Given the description of an element on the screen output the (x, y) to click on. 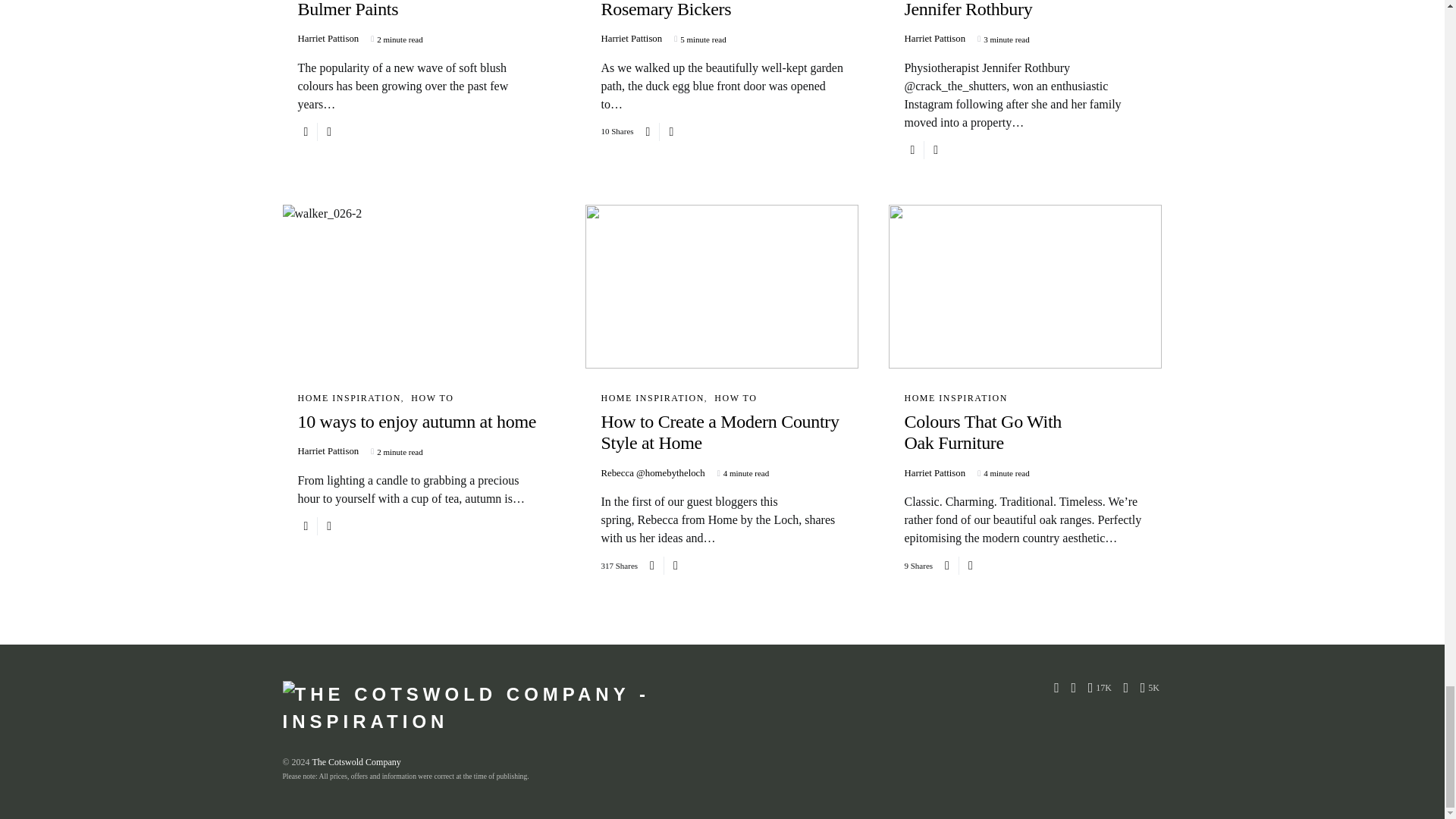
View all posts by Harriet Pattison (934, 473)
View all posts by Harriet Pattison (934, 38)
View all posts by Harriet Pattison (327, 451)
View all posts by Harriet Pattison (630, 38)
View all posts by Harriet Pattison (327, 38)
